Given the description of an element on the screen output the (x, y) to click on. 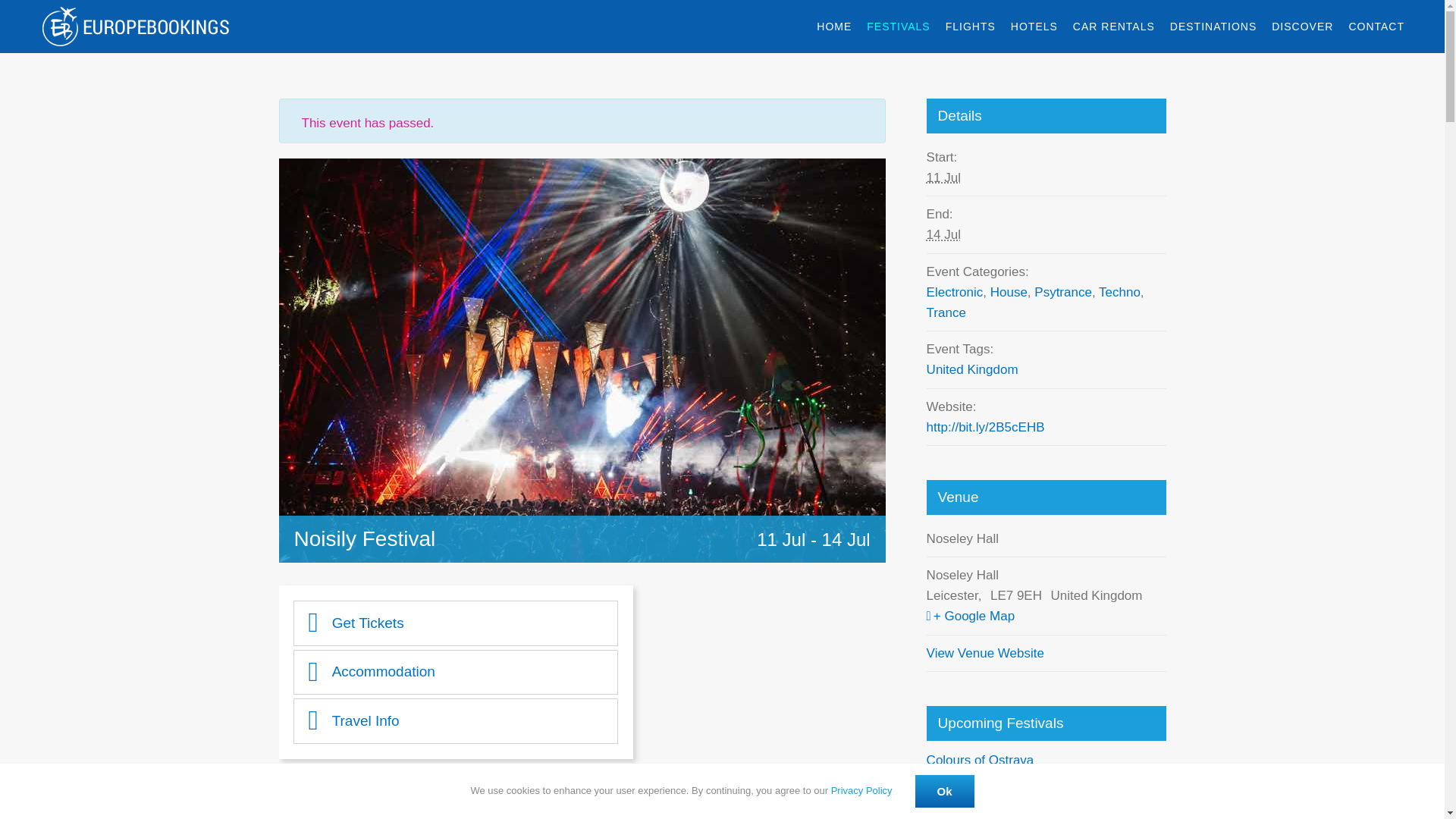
CAR RENTALS (1113, 26)
CONTACT (1376, 26)
FESTIVALS (898, 26)
DISCOVER (1302, 26)
FLIGHTS (969, 26)
DESTINATIONS (1213, 26)
